Given the description of an element on the screen output the (x, y) to click on. 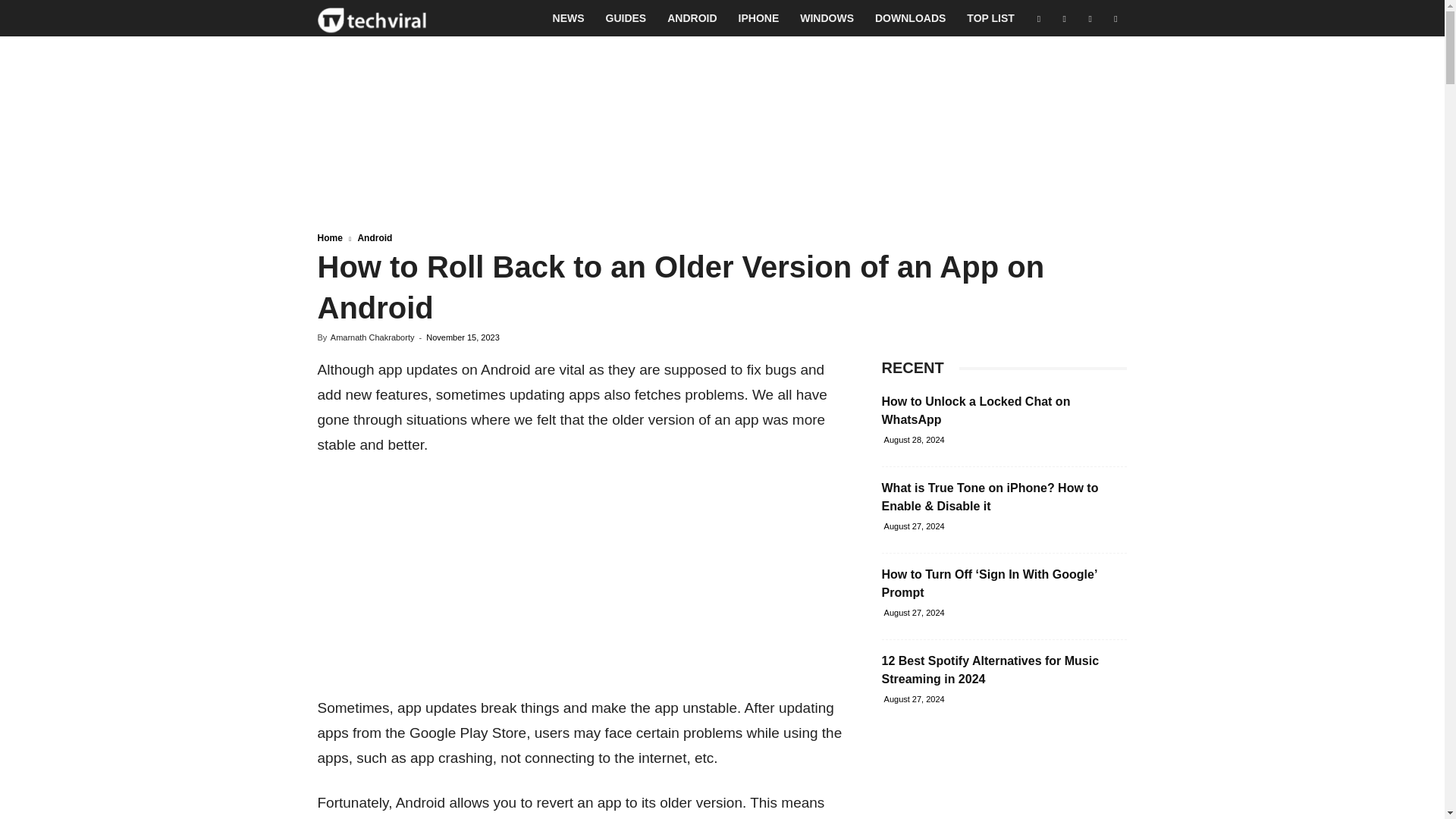
DOWNLOADS (910, 18)
TechViral (371, 18)
ANDROID (691, 18)
TOP LIST (990, 18)
Home (329, 237)
IPHONE (759, 18)
Tech Viral (371, 18)
WINDOWS (826, 18)
Amarnath Chakraborty (372, 337)
NEWS (568, 18)
